Given the description of an element on the screen output the (x, y) to click on. 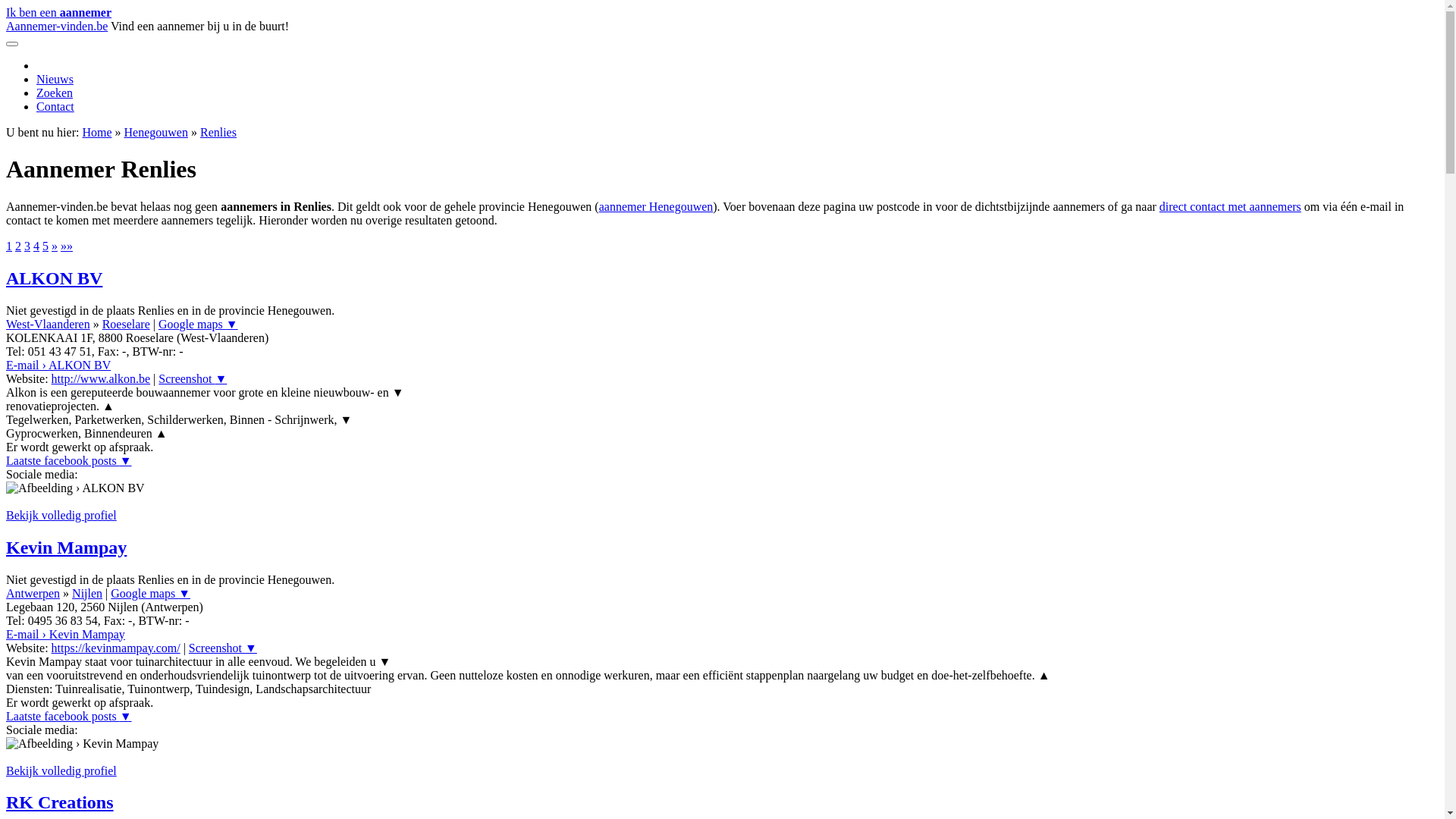
Kevin Mampay Element type: text (66, 547)
Contact Element type: text (55, 106)
5 Element type: text (45, 245)
Nieuws Element type: text (54, 78)
Ik ben een aannemer Element type: text (58, 12)
Henegouwen Element type: text (156, 131)
Antwerpen Element type: text (32, 592)
West-Vlaanderen Element type: text (48, 323)
direct contact met aannemers Element type: text (1230, 206)
Roeselare Element type: text (126, 323)
RK Creations Element type: text (59, 802)
4 Element type: text (36, 245)
Aannemer-vinden.be Element type: text (56, 25)
1 Element type: text (9, 245)
https://kevinmampay.com/ Element type: text (115, 647)
Home Element type: text (96, 131)
Nijlen Element type: text (87, 592)
Renlies Element type: text (218, 131)
ALKON BV Element type: text (54, 278)
Bekijk volledig profiel Element type: text (61, 770)
aannemer Henegouwen Element type: text (656, 206)
Zoeken Element type: text (54, 92)
http://www.alkon.be Element type: text (100, 378)
3 Element type: text (27, 245)
2 Element type: text (18, 245)
Bekijk volledig profiel Element type: text (61, 514)
